Given the description of an element on the screen output the (x, y) to click on. 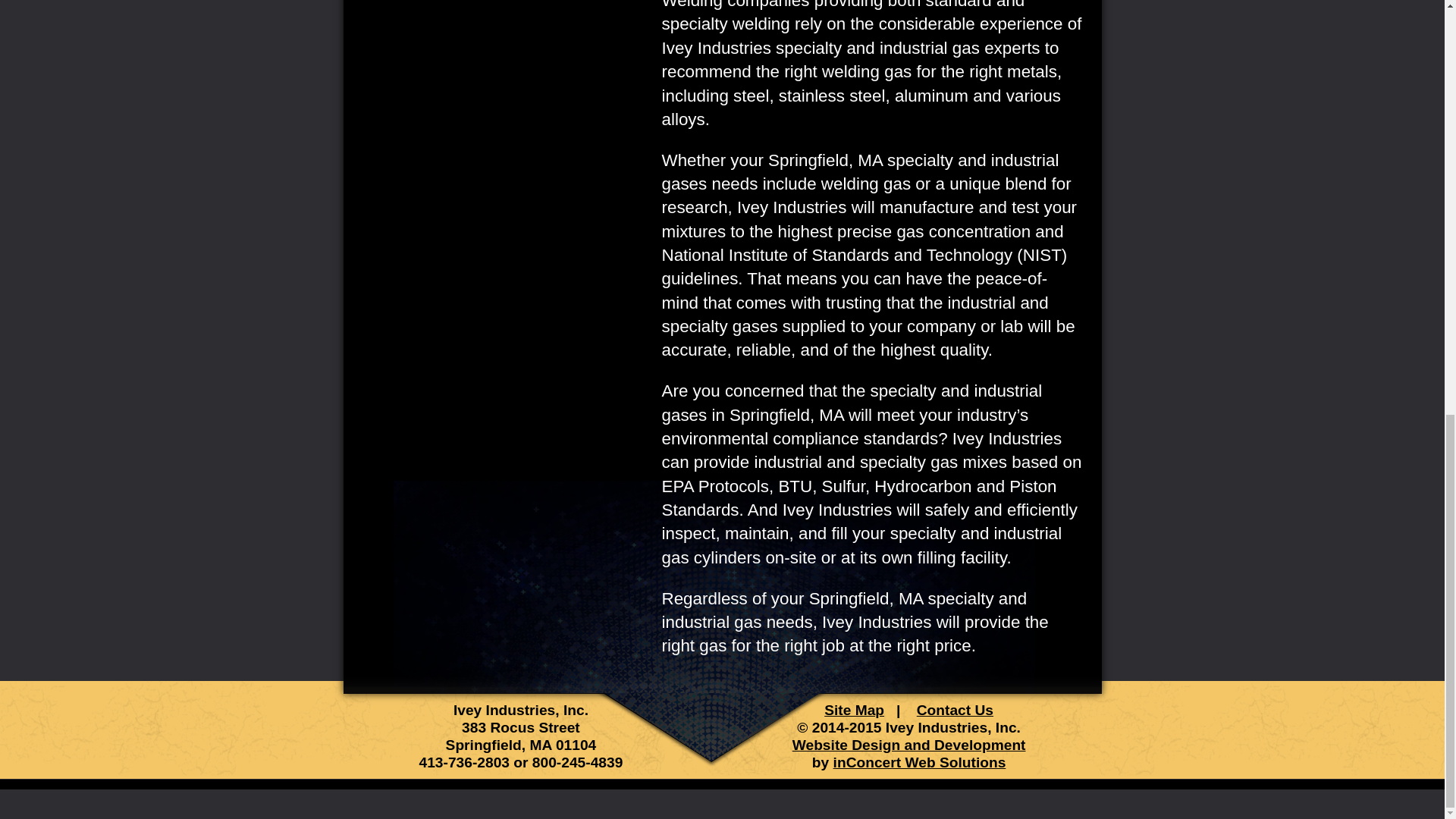
Website Design and Development (909, 744)
inConcert Web Solutions (919, 762)
Contact Us (954, 709)
Site Map (853, 709)
